Given the description of an element on the screen output the (x, y) to click on. 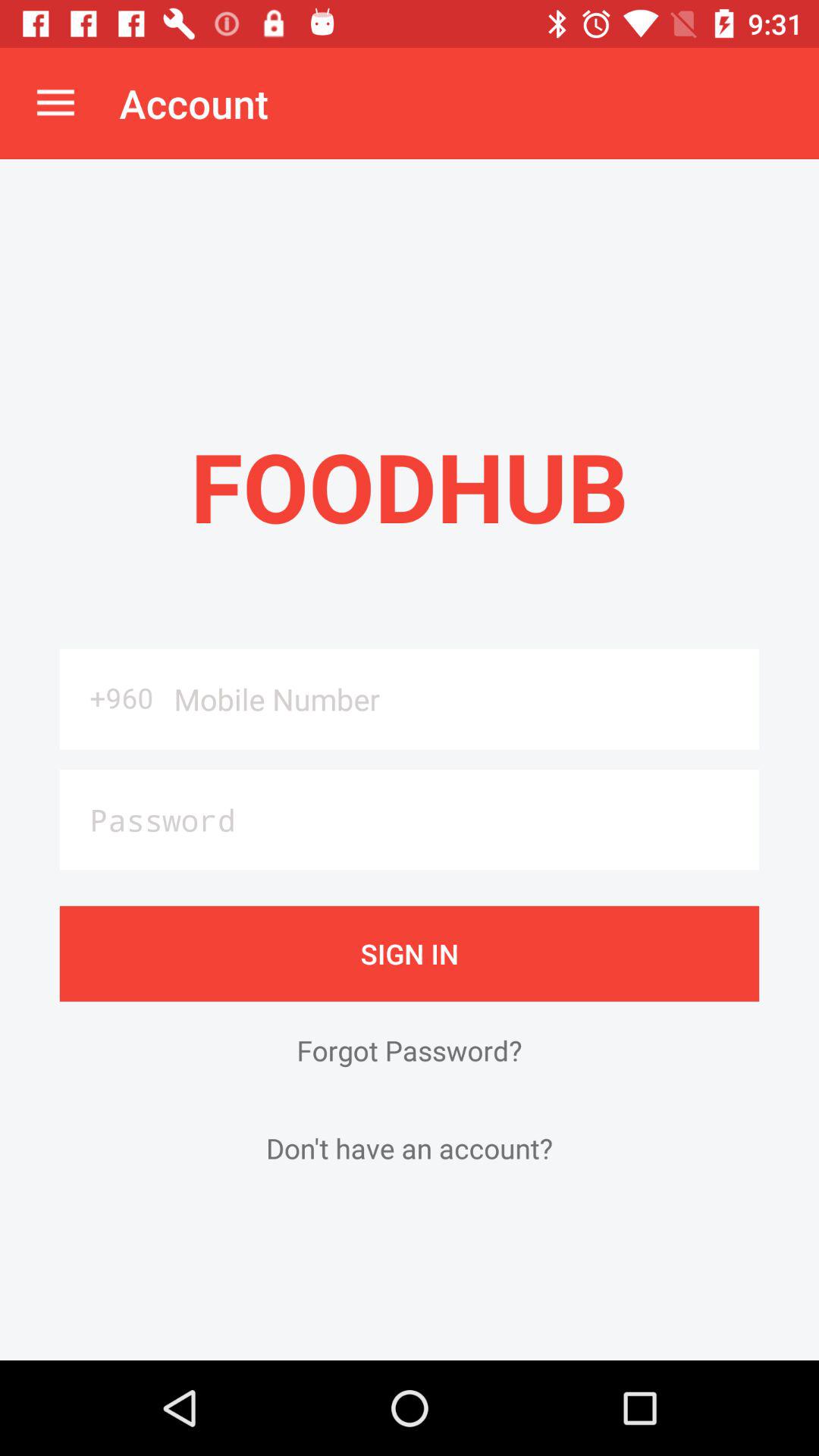
click the item above the forgot password? icon (409, 953)
